Given the description of an element on the screen output the (x, y) to click on. 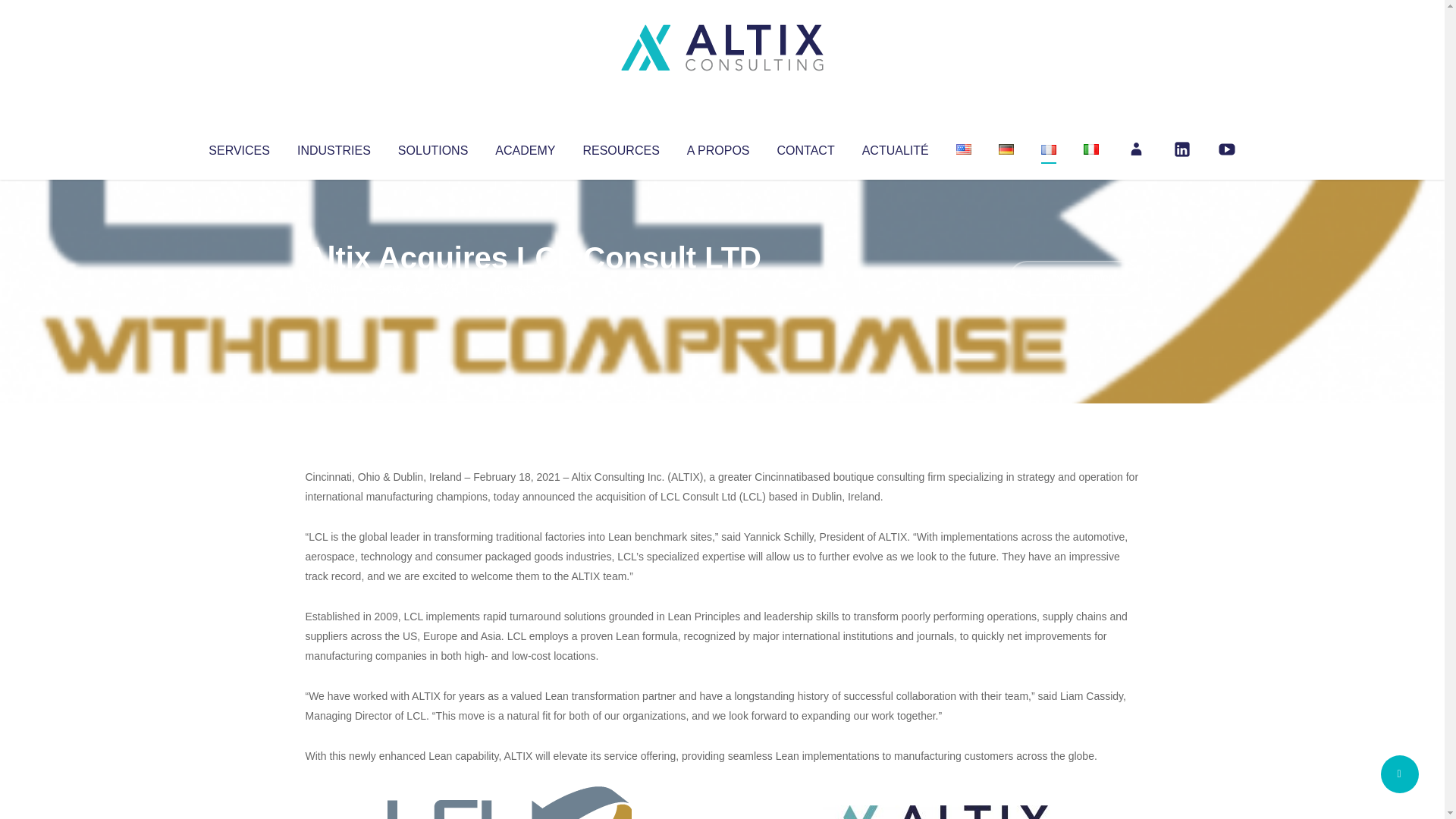
Altix (333, 287)
Uncategorized (530, 287)
Articles par Altix (333, 287)
INDUSTRIES (334, 146)
SERVICES (238, 146)
ACADEMY (524, 146)
A PROPOS (718, 146)
No Comments (1073, 278)
SOLUTIONS (432, 146)
RESOURCES (620, 146)
